Given the description of an element on the screen output the (x, y) to click on. 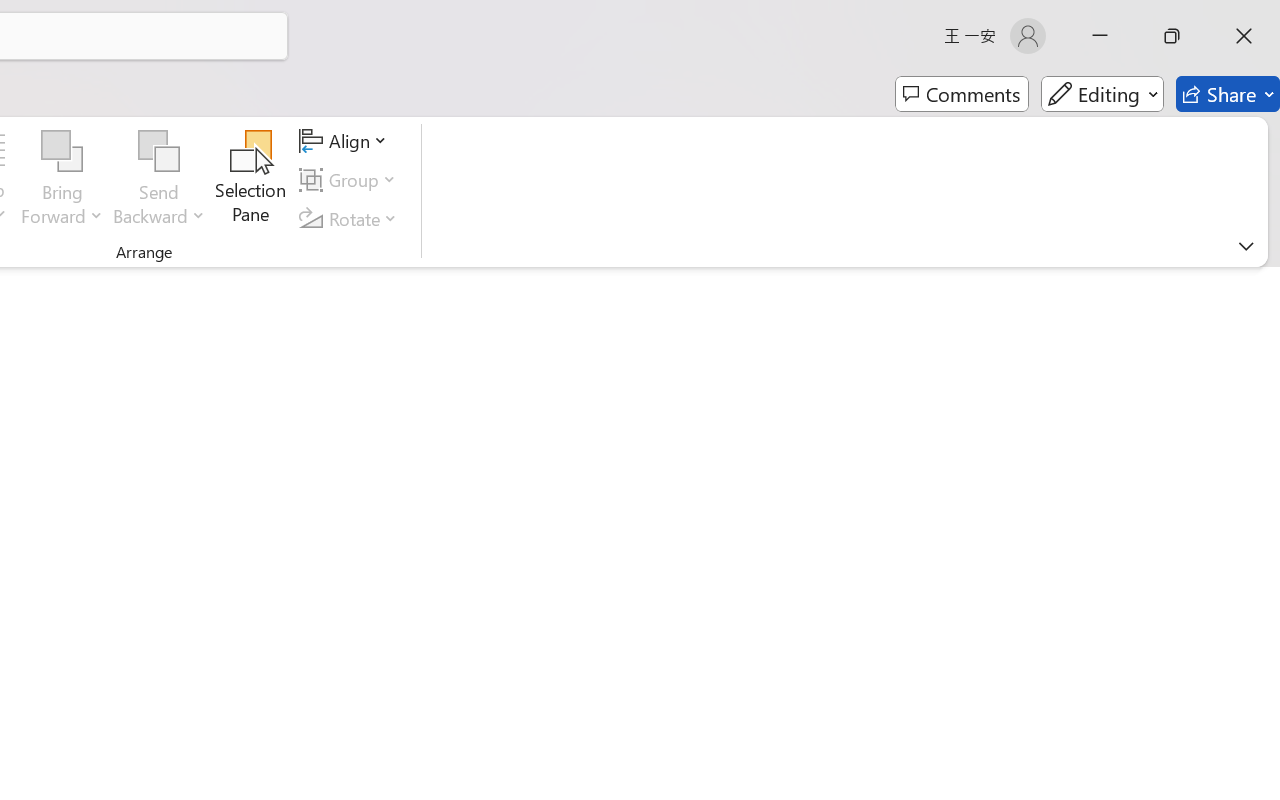
Restore Down (1172, 36)
Selection Pane... (251, 179)
Ribbon Display Options (1246, 245)
Close (1244, 36)
Send Backward (159, 179)
More Options (159, 208)
Bring Forward (62, 151)
Editing (1101, 94)
Share (1228, 94)
Comments (961, 94)
Group (351, 179)
Bring Forward (62, 179)
Send Backward (159, 151)
Align (346, 141)
